Given the description of an element on the screen output the (x, y) to click on. 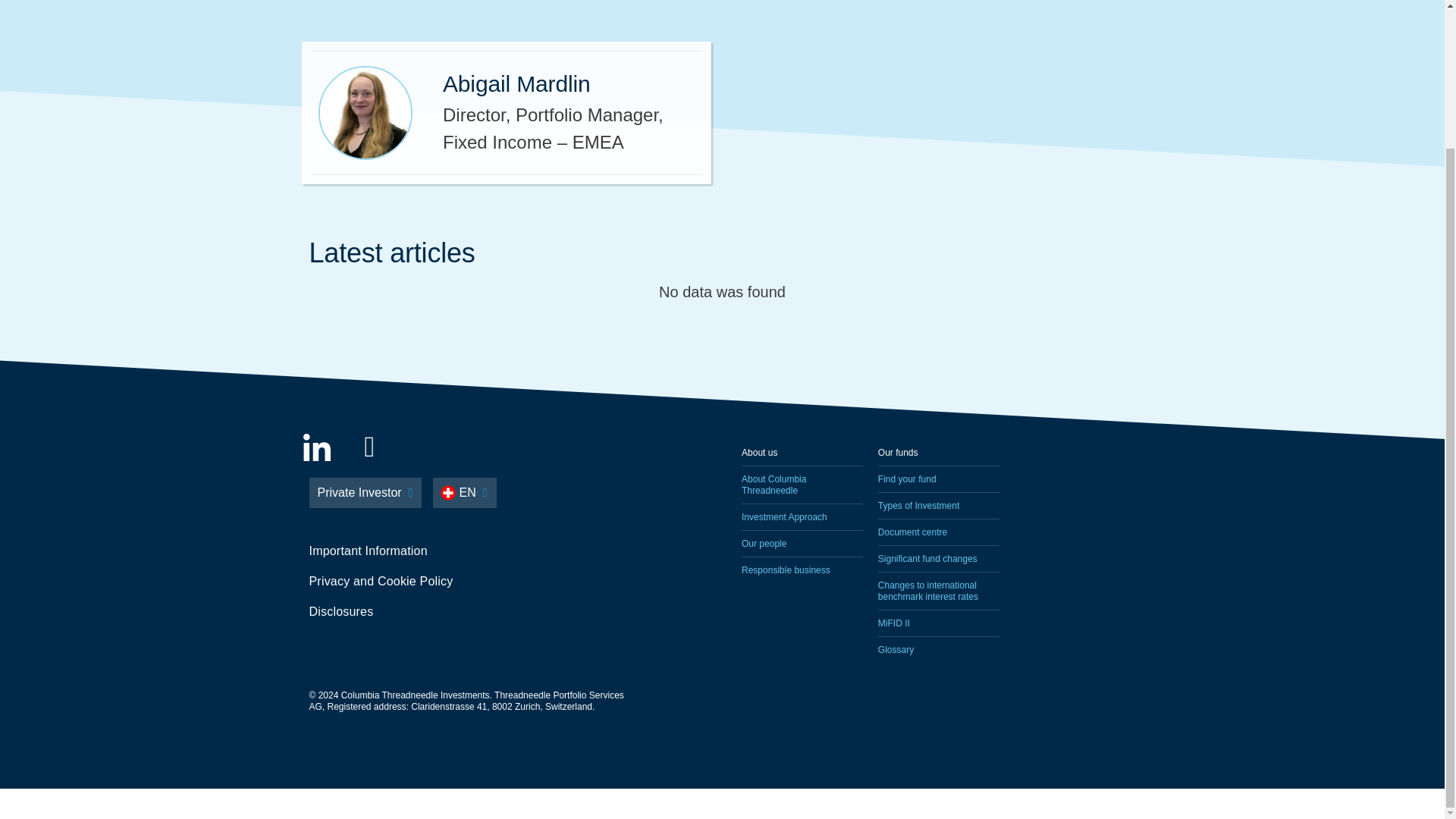
Private Investor (365, 492)
abigail-mardlin-img (365, 112)
EN (464, 492)
About us (802, 452)
